Given the description of an element on the screen output the (x, y) to click on. 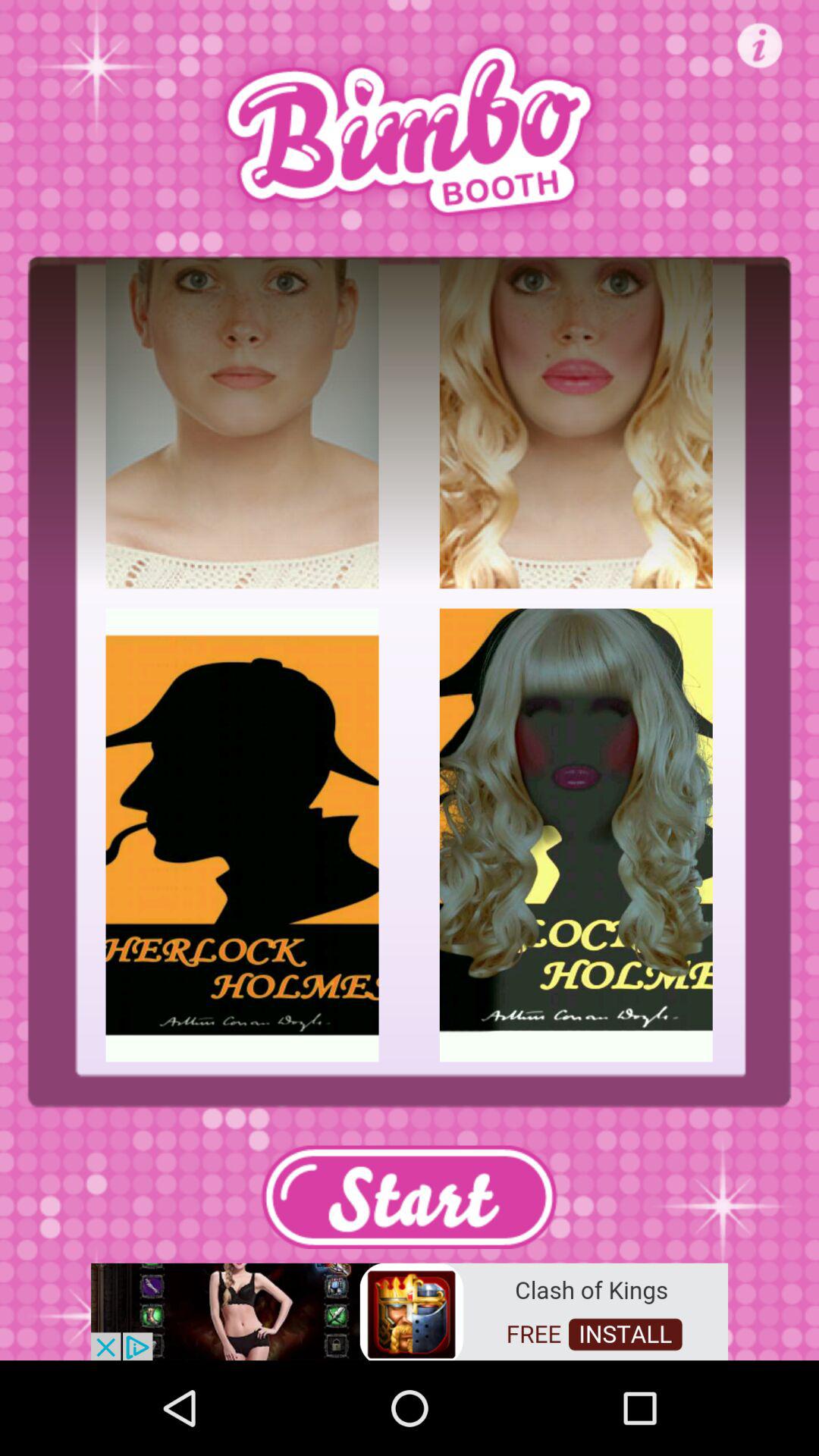
go to start obstion (408, 1196)
